Given the description of an element on the screen output the (x, y) to click on. 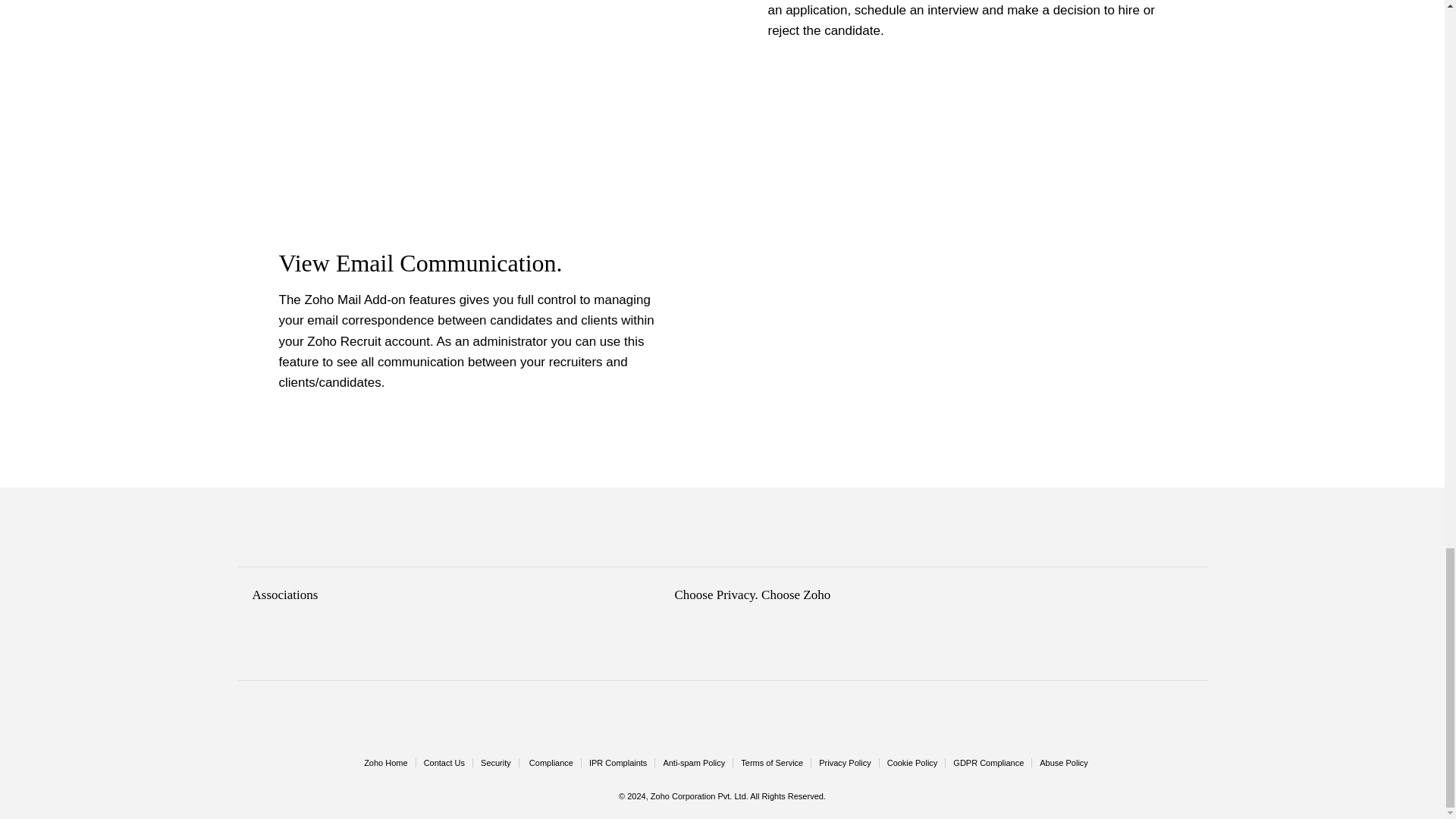
Abuse Policy (1063, 762)
Contact Us (443, 762)
IPR Complaints (617, 762)
Compliance (551, 762)
Terms of Service (772, 762)
Cookie Policy (911, 762)
Privacy Policy (844, 762)
Anti-spam Policy (693, 762)
Zoho Home (385, 762)
GDPR Compliance (988, 762)
